Given the description of an element on the screen output the (x, y) to click on. 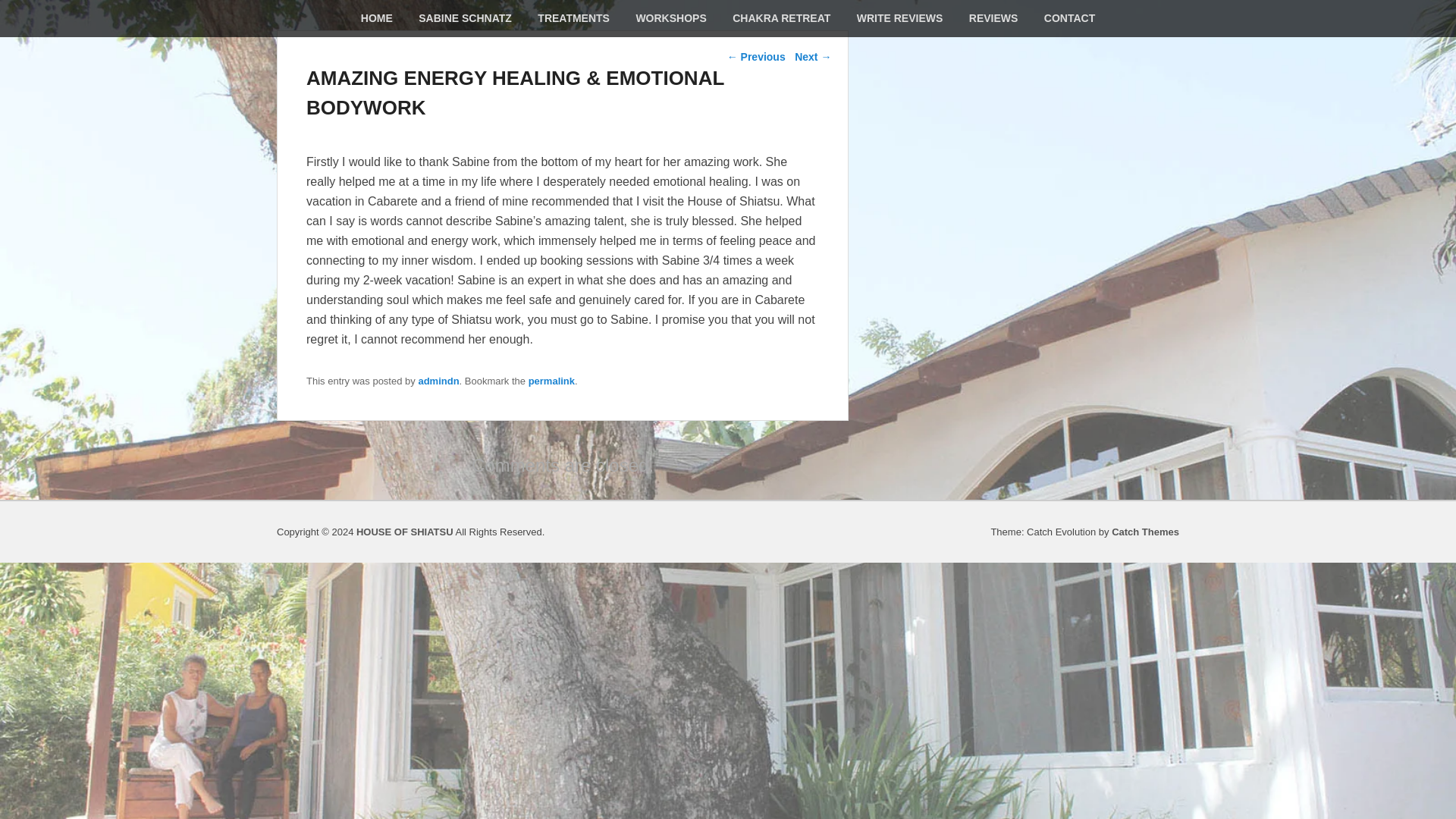
WRITE REVIEWS (900, 18)
CHAKRA RETREAT (780, 18)
WORKSHOPS (670, 18)
TREATMENTS (573, 18)
REVIEWS (993, 18)
HOME (376, 18)
HOUSE OF SHIATSU (404, 531)
HOUSE OF SHIATSU (404, 531)
CONTACT (1069, 18)
admindn (437, 380)
